Given the description of an element on the screen output the (x, y) to click on. 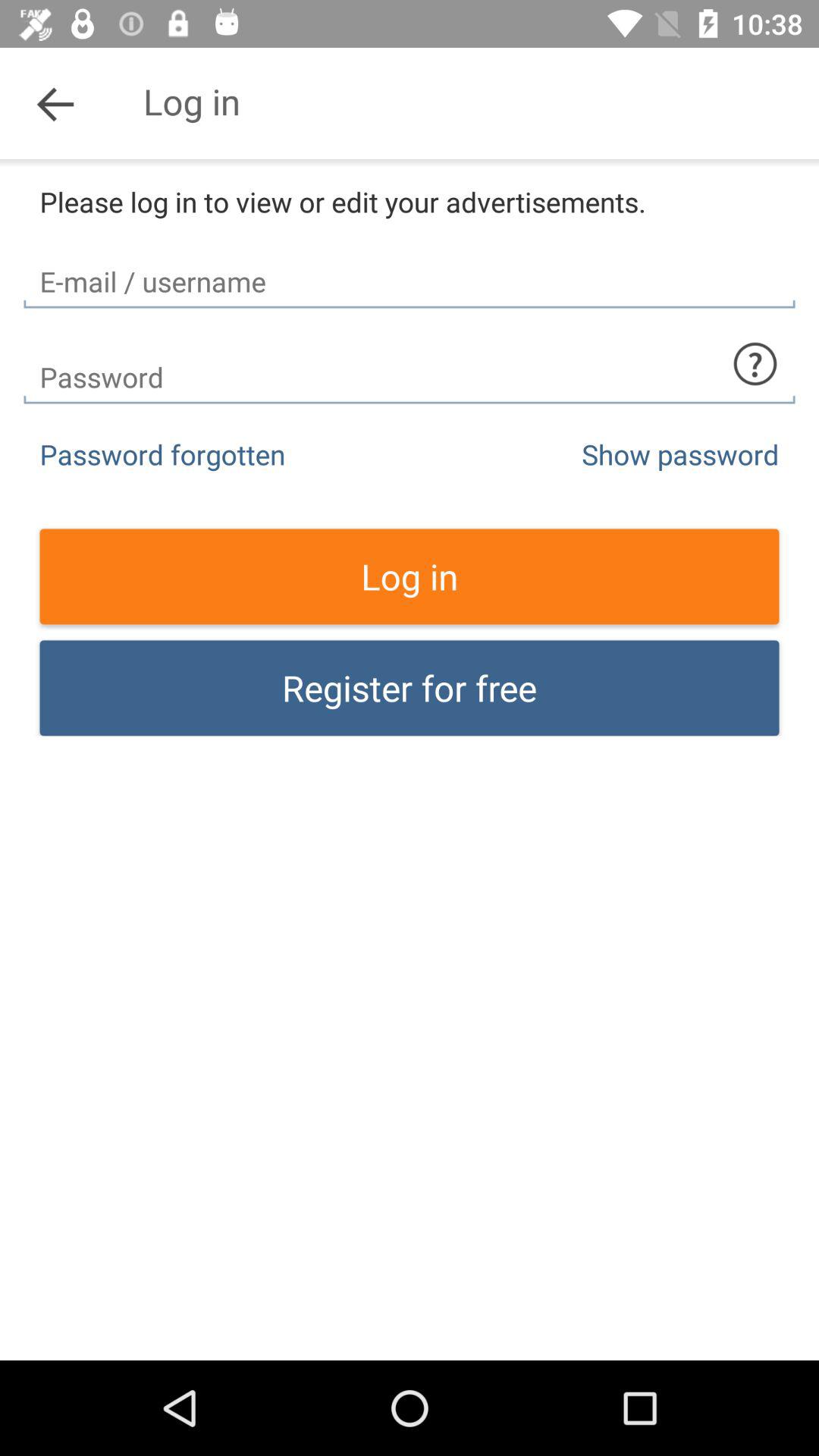
login help (755, 363)
